Given the description of an element on the screen output the (x, y) to click on. 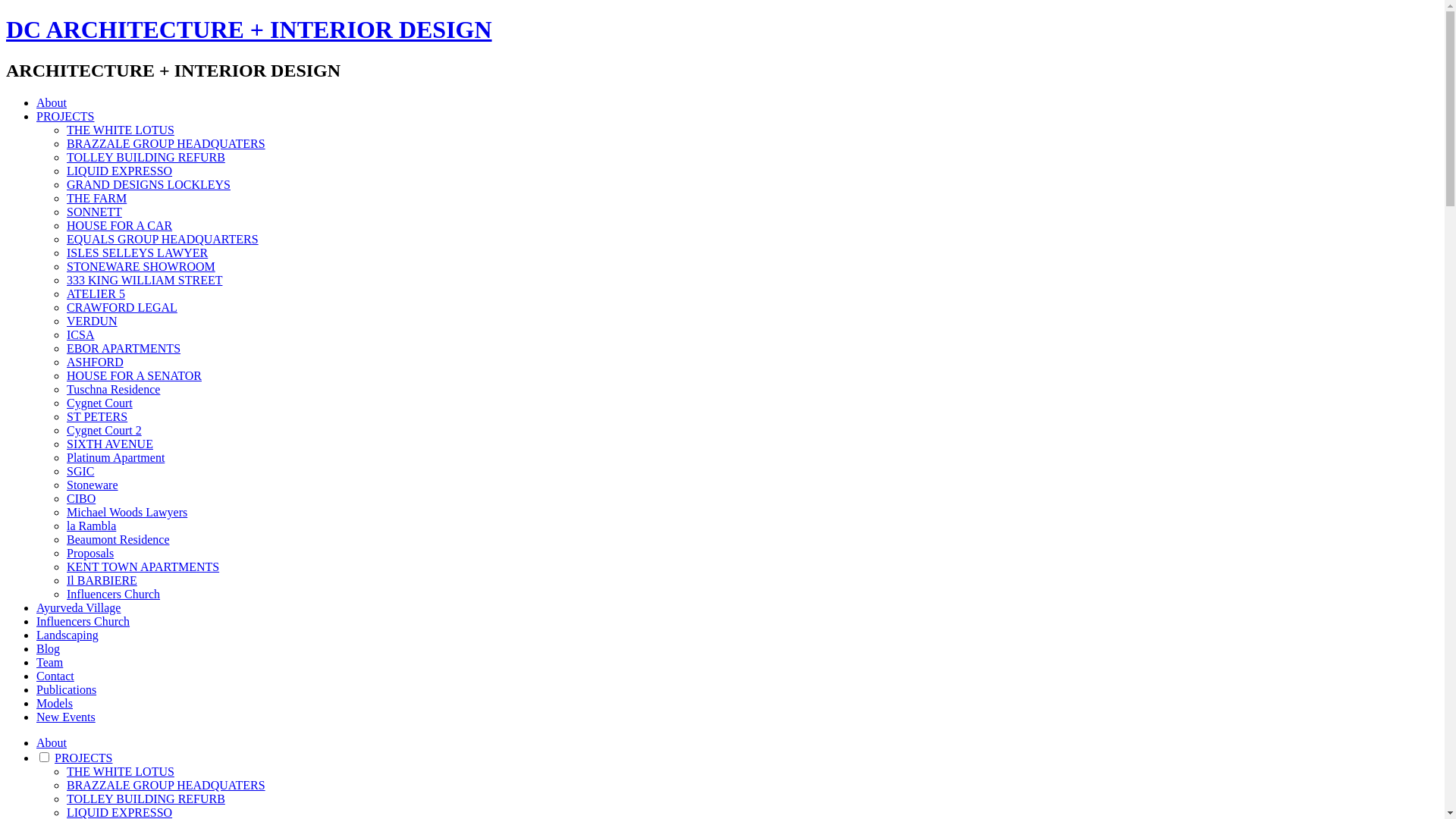
THE FARM Element type: text (96, 197)
EBOR APARTMENTS Element type: text (123, 348)
CIBO Element type: text (80, 498)
Ayurveda Village Element type: text (78, 607)
STONEWARE SHOWROOM Element type: text (140, 266)
SIXTH AVENUE Element type: text (109, 443)
Cygnet Court 2 Element type: text (103, 429)
Publications Element type: text (66, 689)
VERDUN Element type: text (91, 320)
Cygnet Court Element type: text (99, 402)
ASHFORD Element type: text (94, 361)
Proposals Element type: text (89, 552)
Beaumont Residence Element type: text (117, 539)
About Element type: text (51, 742)
la Rambla Element type: text (91, 525)
DC ARCHITECTURE + INTERIOR DESIGN Element type: text (249, 29)
333 KING WILLIAM STREET Element type: text (144, 279)
New Events Element type: text (65, 716)
Team Element type: text (49, 661)
SGIC Element type: text (80, 470)
HOUSE FOR A CAR Element type: text (119, 225)
CRAWFORD LEGAL Element type: text (121, 307)
LIQUID EXPRESSO Element type: text (119, 170)
Michael Woods Lawyers Element type: text (126, 511)
BRAZZALE GROUP HEADQUATERS Element type: text (165, 143)
Influencers Church Element type: text (82, 621)
Tuschna Residence Element type: text (113, 388)
Stoneware Element type: text (92, 484)
ISLES SELLEYS LAWYER Element type: text (136, 252)
KENT TOWN APARTMENTS Element type: text (142, 566)
ST PETERS Element type: text (96, 416)
About Element type: text (51, 102)
PROJECTS Element type: text (83, 757)
PROJECTS Element type: text (65, 115)
Contact Element type: text (55, 675)
Blog Element type: text (47, 648)
TOLLEY BUILDING REFURB Element type: text (145, 156)
GRAND DESIGNS LOCKLEYS Element type: text (148, 184)
ATELIER 5 Element type: text (95, 293)
BRAZZALE GROUP HEADQUATERS Element type: text (165, 784)
HOUSE FOR A SENATOR Element type: text (133, 375)
THE WHITE LOTUS Element type: text (120, 129)
THE WHITE LOTUS Element type: text (120, 771)
Influencers Church Element type: text (113, 593)
Landscaping Element type: text (67, 634)
SONNETT Element type: text (94, 211)
EQUALS GROUP HEADQUARTERS Element type: text (162, 238)
Il BARBIERE Element type: text (101, 580)
Models Element type: text (54, 702)
Platinum Apartment Element type: text (115, 457)
TOLLEY BUILDING REFURB Element type: text (145, 798)
ICSA Element type: text (80, 334)
